Given the description of an element on the screen output the (x, y) to click on. 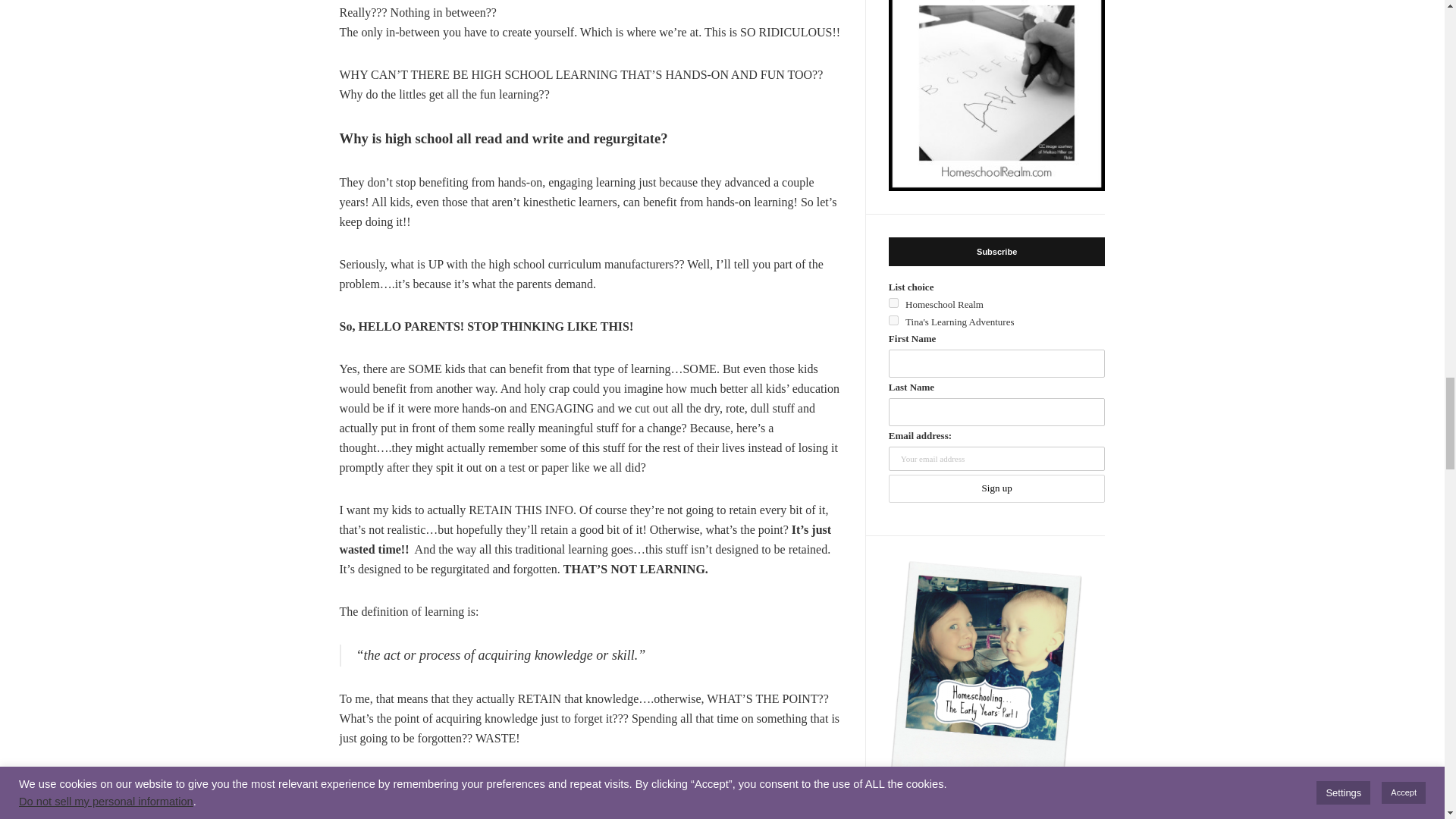
dfa804165d (893, 320)
Sign up (996, 488)
4d1bbfe333 (893, 302)
